Given the description of an element on the screen output the (x, y) to click on. 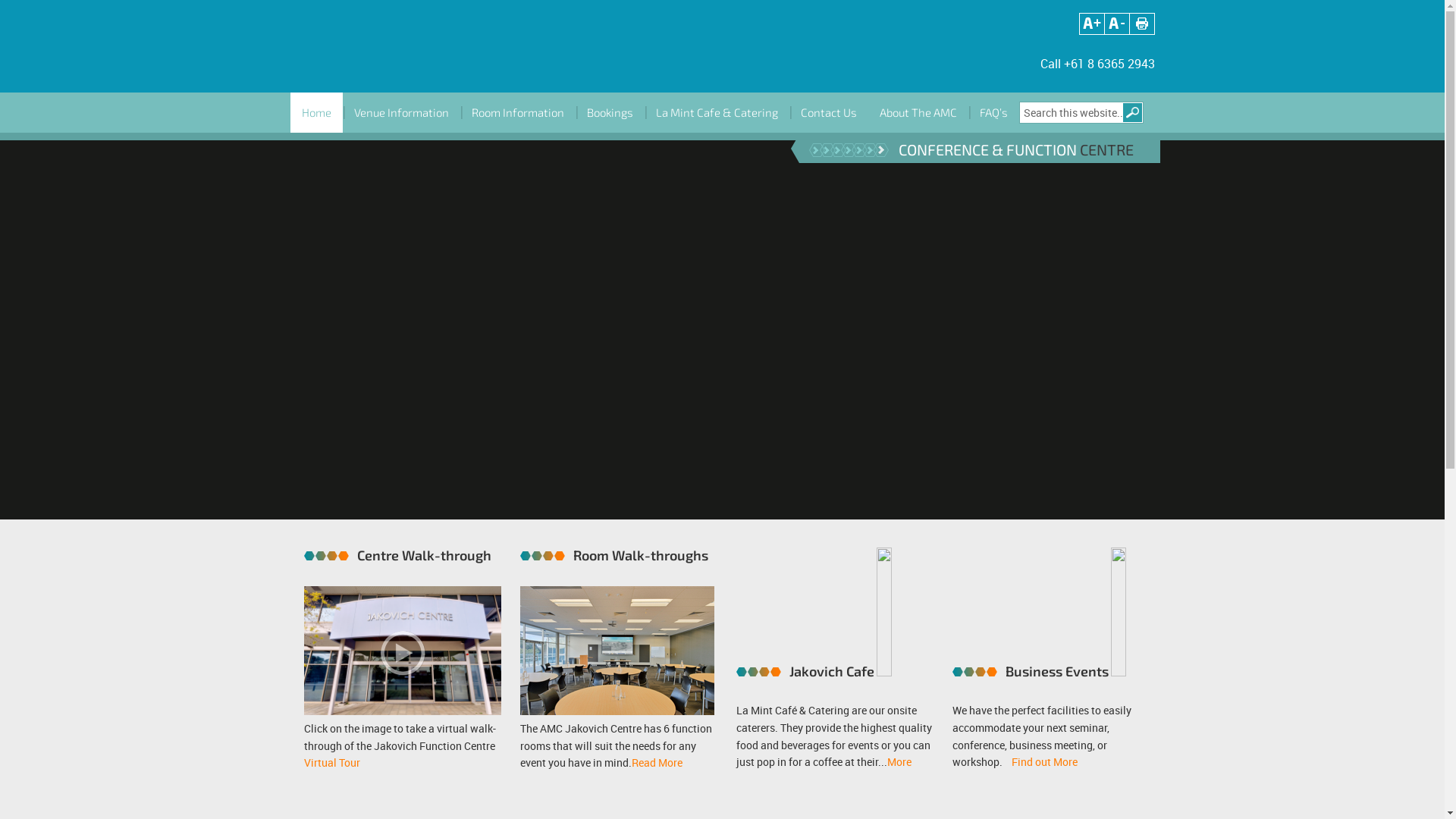
More Element type: text (899, 762)
JAKOVICH CENTRE Element type: text (418, 45)
About The AMC Element type: text (917, 112)
+61 8 6365 2943 Element type: text (1108, 63)
Adjust font size Element type: text (1091, 23)
La Mint Cafe & Catering Element type: text (716, 112)
Adjust font size Element type: text (1116, 23)
Contact Us Element type: text (827, 112)
Venue Information Element type: text (401, 112)
Find out More Element type: text (1044, 762)
Read More Element type: text (656, 762)
Print this page Element type: text (1141, 23)
Room Information Element type: text (516, 112)
JakovichCentre-v1.mp4 Video Element type: hover (727, 334)
Virtual Tour Element type: text (332, 762)
Bookings Element type: text (608, 112)
Home Element type: text (315, 112)
